Given the description of an element on the screen output the (x, y) to click on. 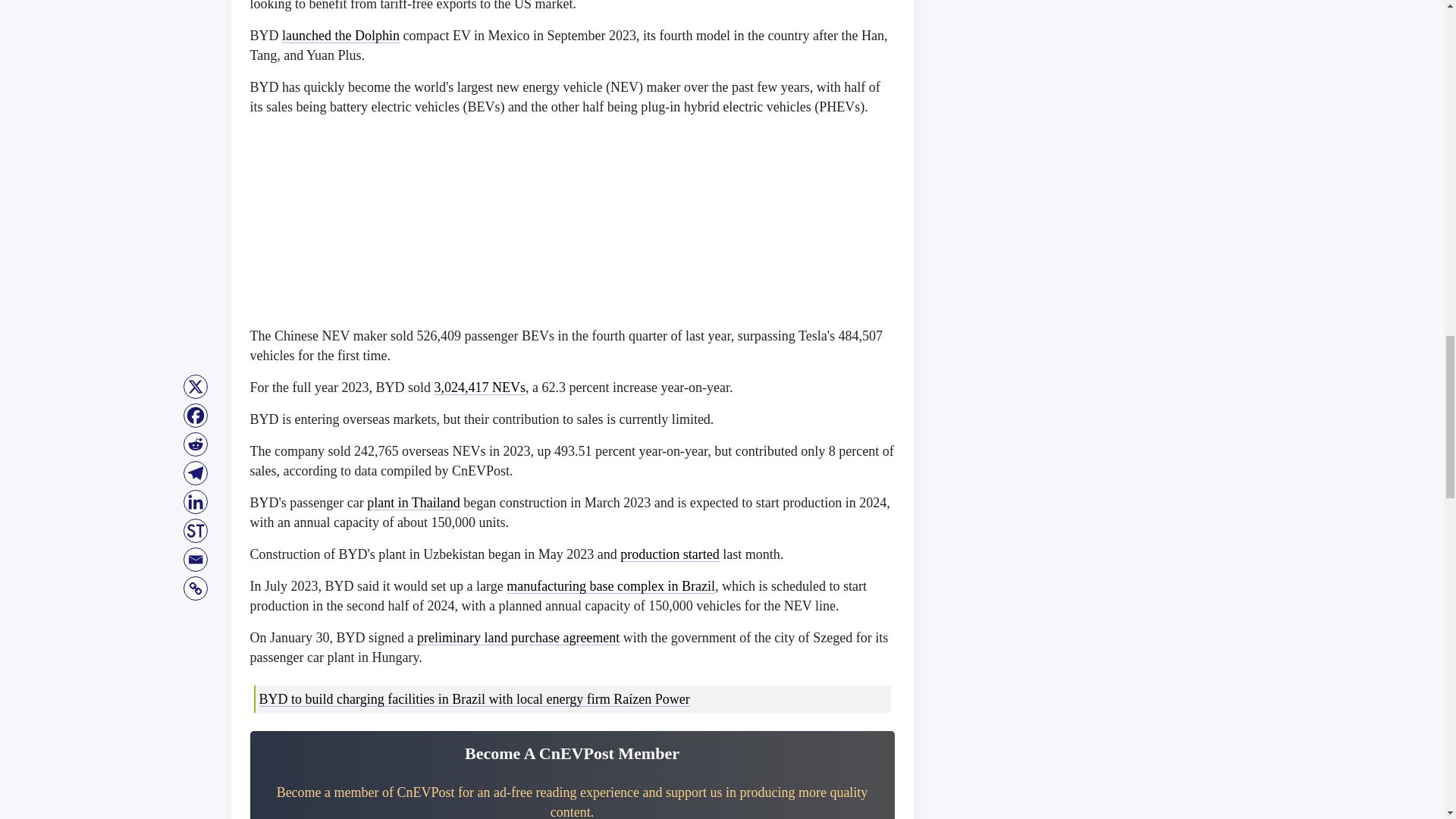
plant in Thailand (413, 502)
preliminary land purchase agreement (518, 637)
production started (669, 554)
launched the Dolphin (340, 35)
manufacturing base complex in Brazil (610, 585)
3,024,417 NEVs (479, 387)
